Given the description of an element on the screen output the (x, y) to click on. 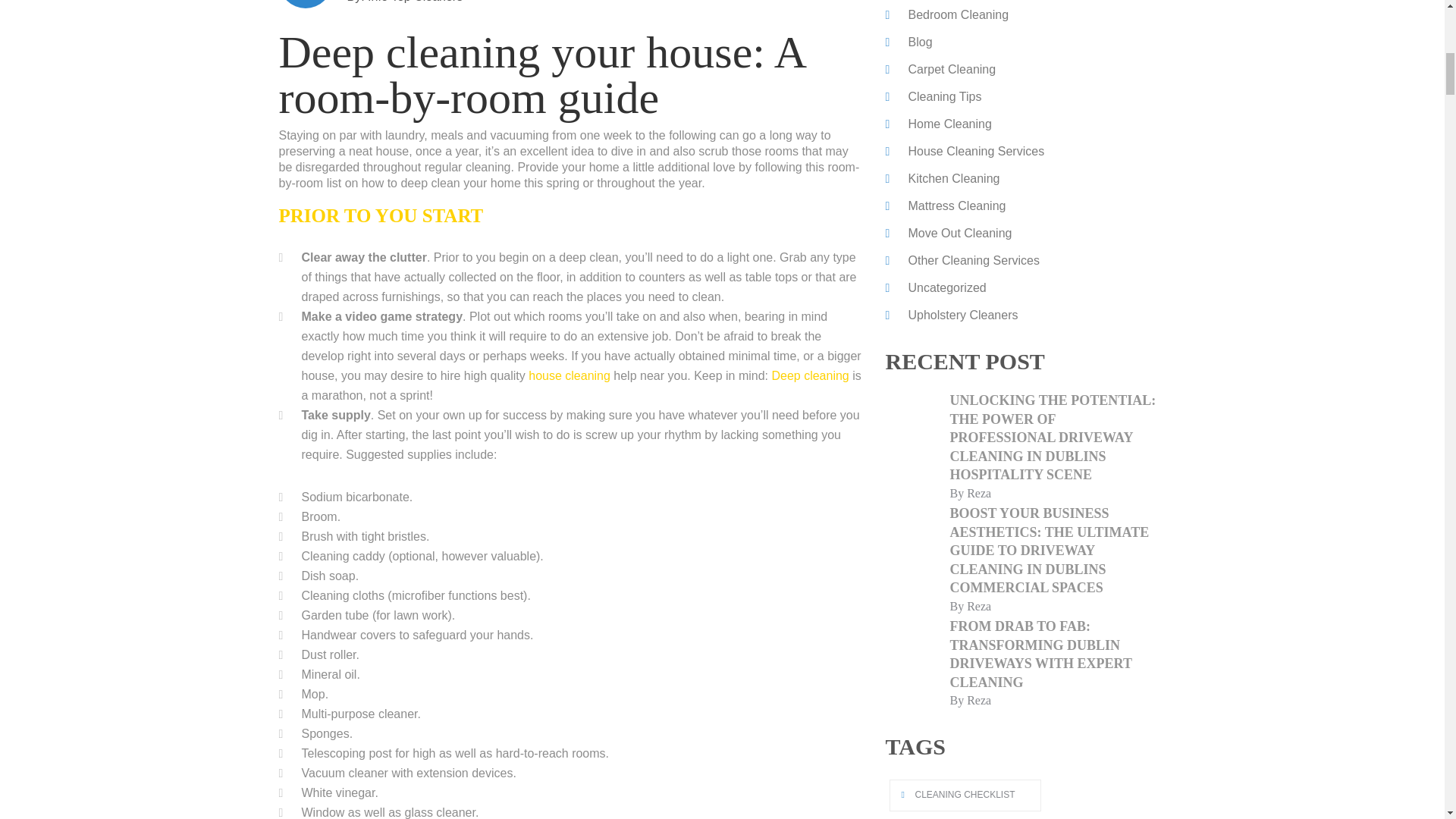
Deep cleaning (809, 375)
Info Top Cleaners (415, 1)
house cleaning (569, 375)
